Given the description of an element on the screen output the (x, y) to click on. 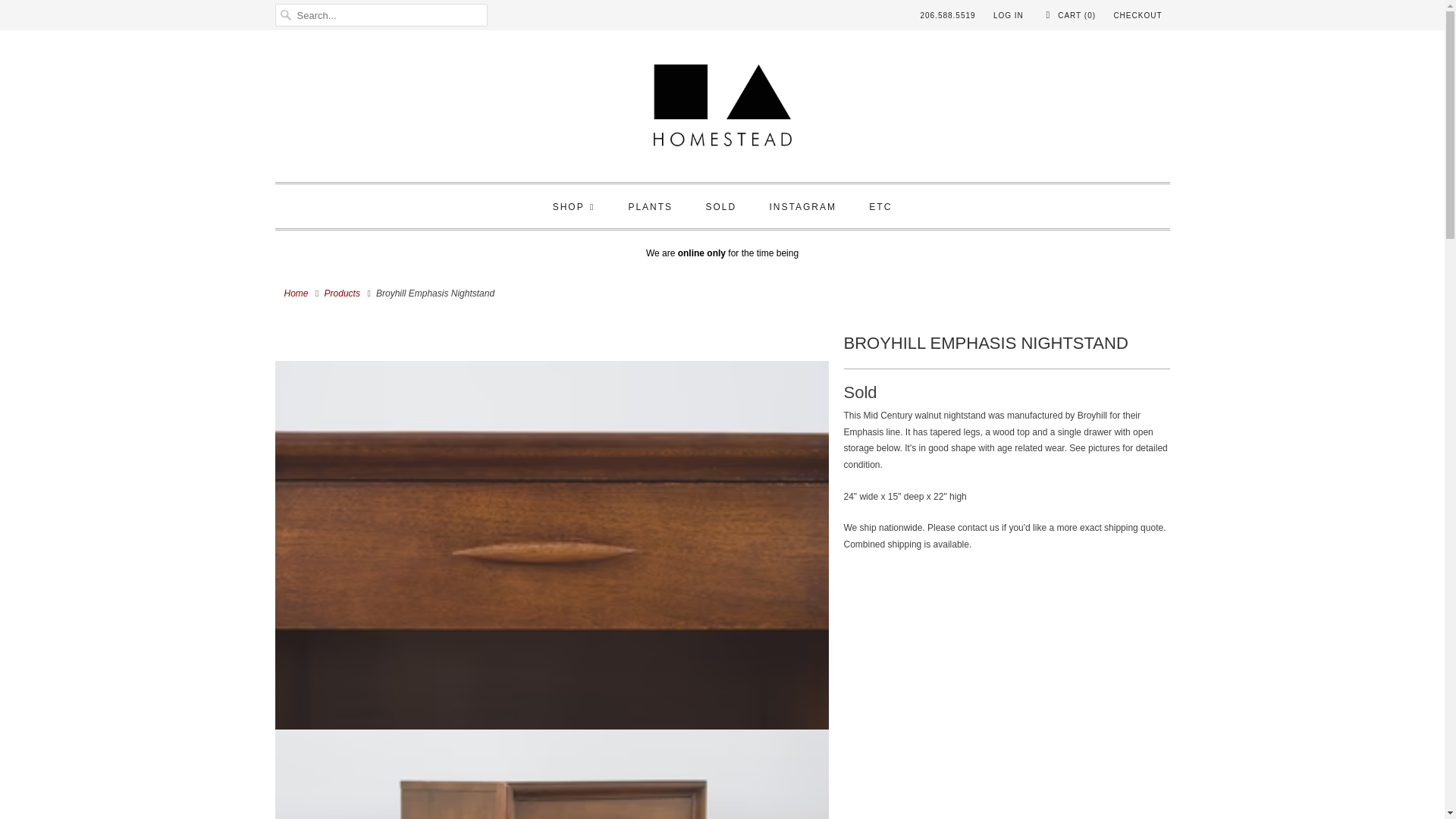
Broyhill Emphasis Nightstand (551, 330)
Homestead (295, 293)
Home (295, 293)
Homestead (721, 110)
Broyhill Emphasis Nightstand (551, 354)
ETC (880, 207)
206.588.5519 (947, 15)
Products (341, 293)
SHOP (574, 207)
INSTAGRAM (801, 207)
